Given the description of an element on the screen output the (x, y) to click on. 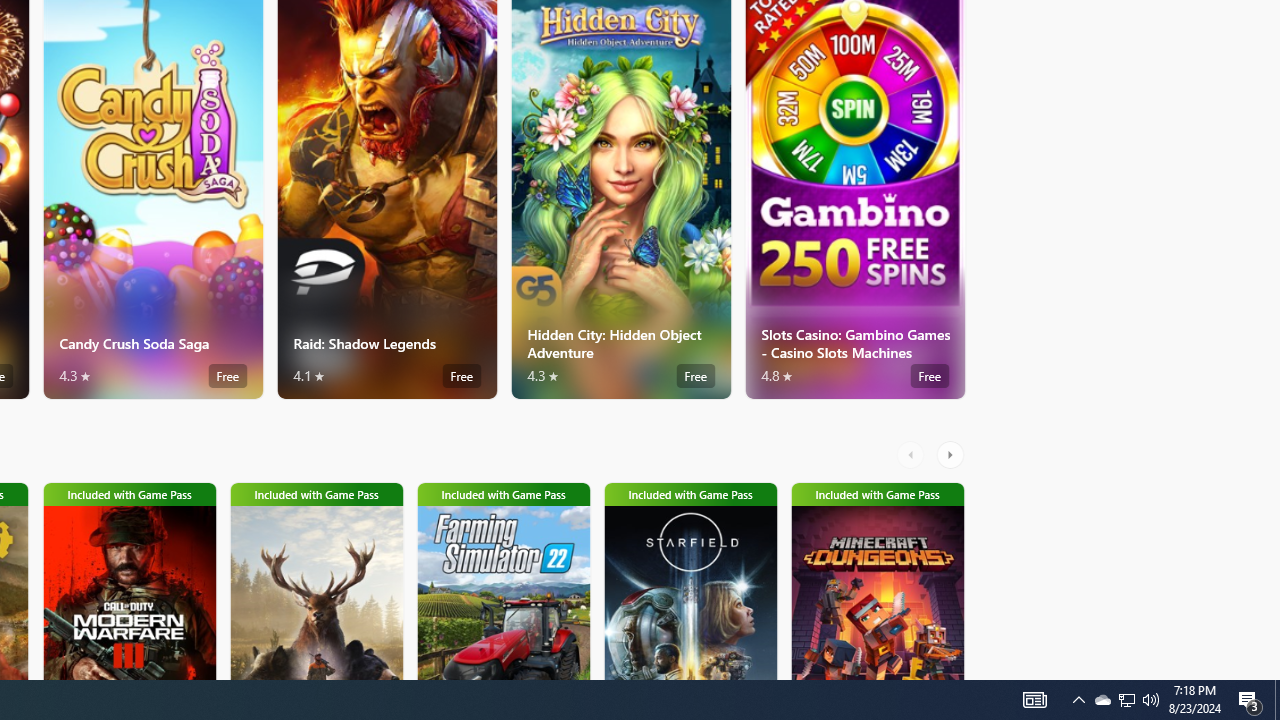
AutomationID: RightScrollButton (952, 454)
AutomationID: LeftScrollButton (913, 454)
